Given the description of an element on the screen output the (x, y) to click on. 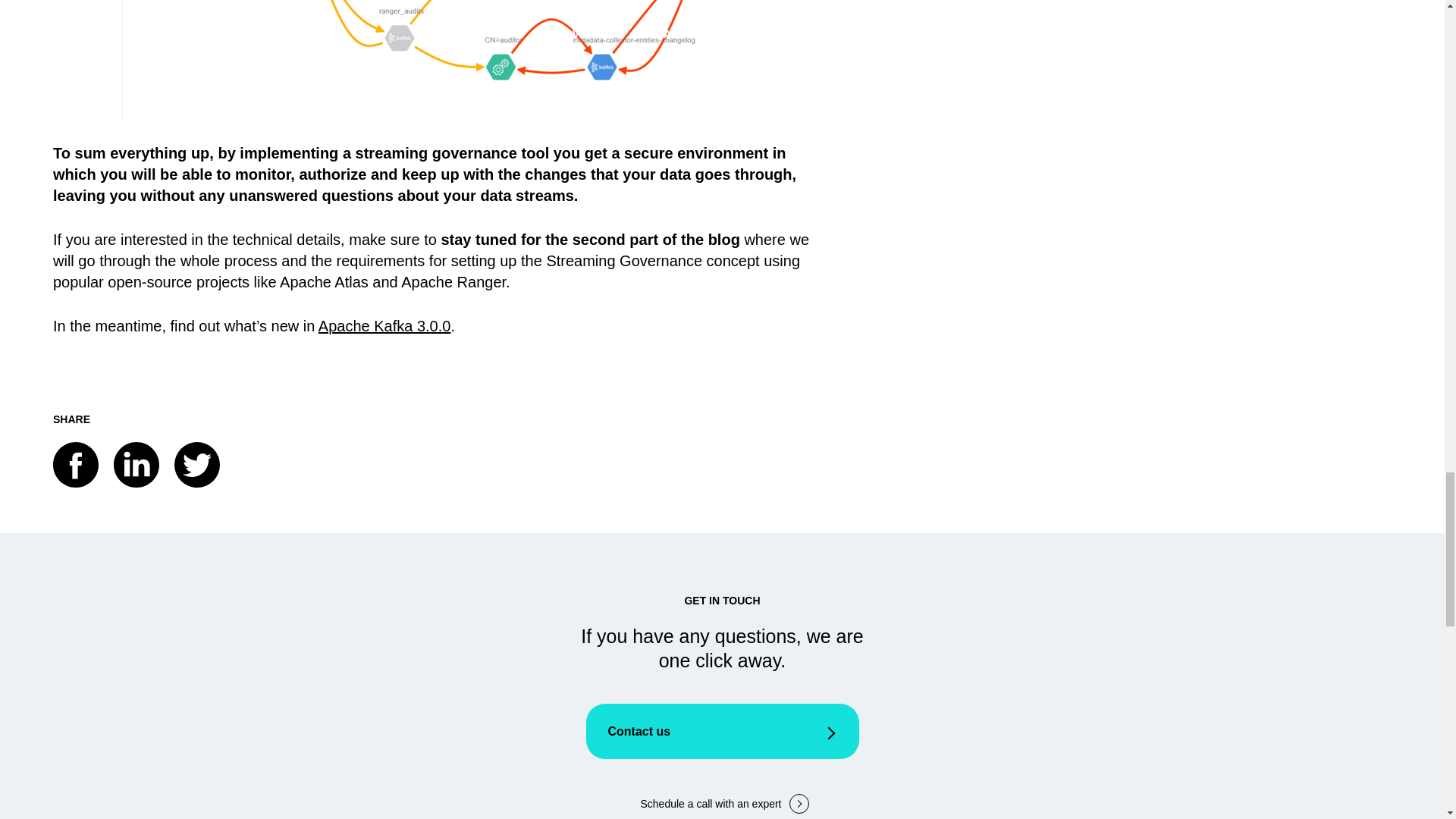
Schedule a call with an expert (721, 804)
twitter (196, 464)
linked in (135, 464)
facebook (75, 464)
Apache Kafka 3.0.0 (384, 325)
